Given the description of an element on the screen output the (x, y) to click on. 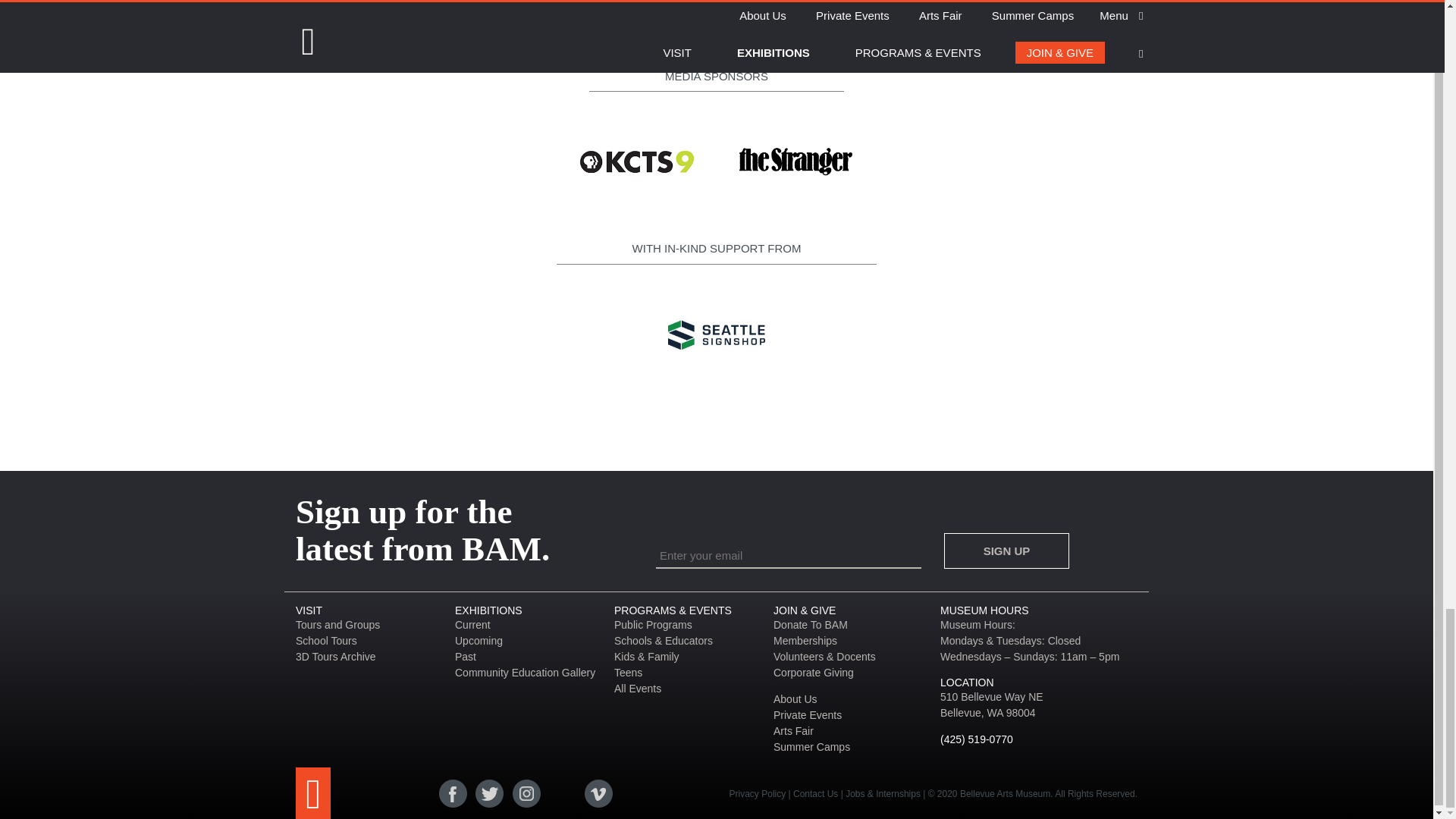
Sign up (1005, 550)
